Given the description of an element on the screen output the (x, y) to click on. 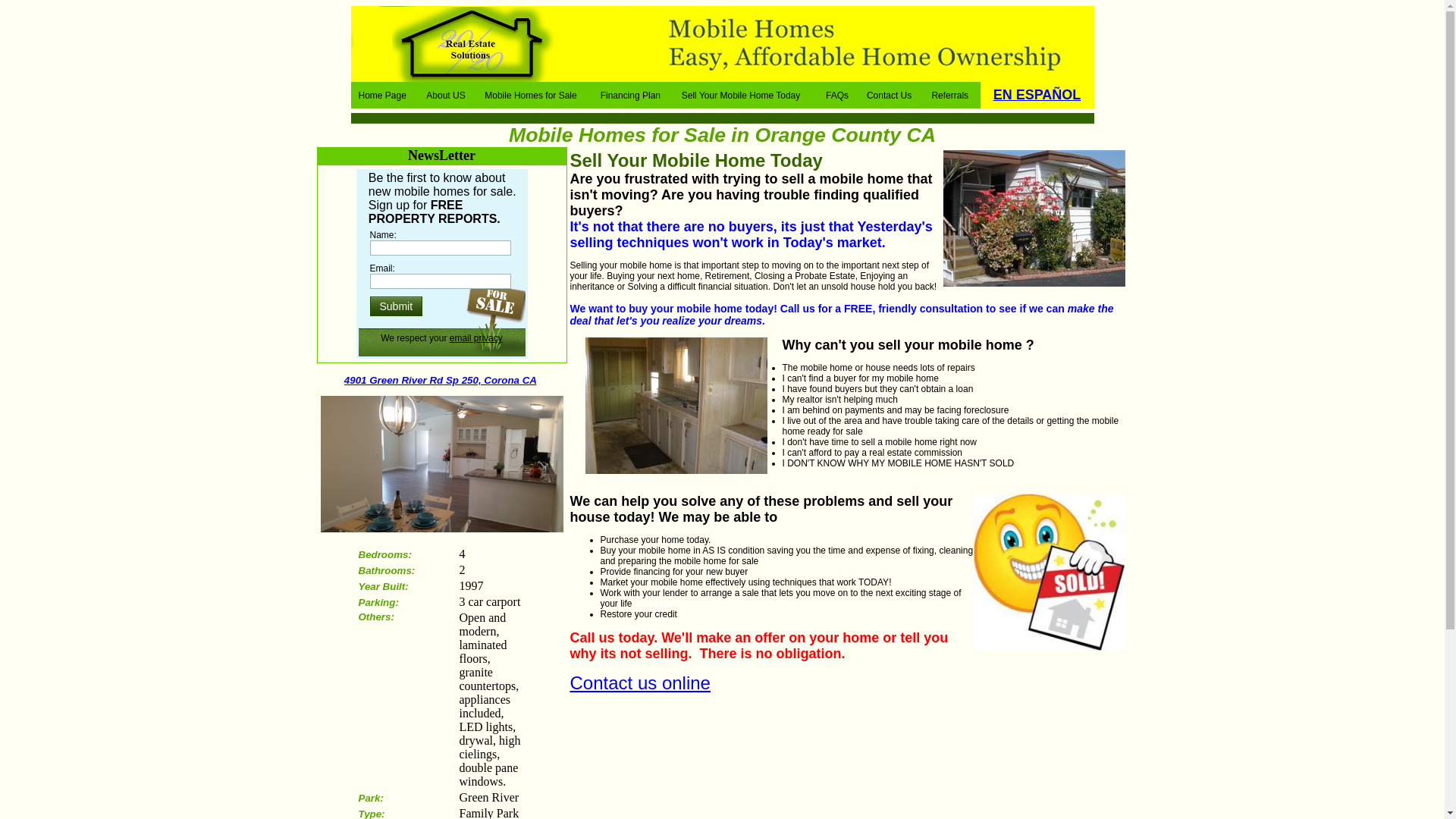
Home Page Element type: text (381, 94)
Mobile Home For Sale Element type: hover (1034, 218)
4901 Green River Rd Sp 250, Corona CA Element type: text (440, 379)
Sell_House_Fast_Picture2.jpg Element type: hover (1049, 571)
email privacy Element type: text (475, 337)
Submit Element type: text (396, 306)
Mobile Homes for Sale Element type: text (530, 94)
Sell Your Mobile Home Today Element type: text (740, 94)
About US Element type: text (445, 94)
Financing Plan Element type: text (630, 94)
Ugly Mobile Home For Sale Element type: hover (676, 405)
Contact Us Element type: text (888, 94)
Contact us online Element type: text (640, 682)
FAQs Element type: text (836, 94)
Referrals Element type: text (949, 94)
Green_River_250_01.jpg Element type: hover (441, 463)
